Given the description of an element on the screen output the (x, y) to click on. 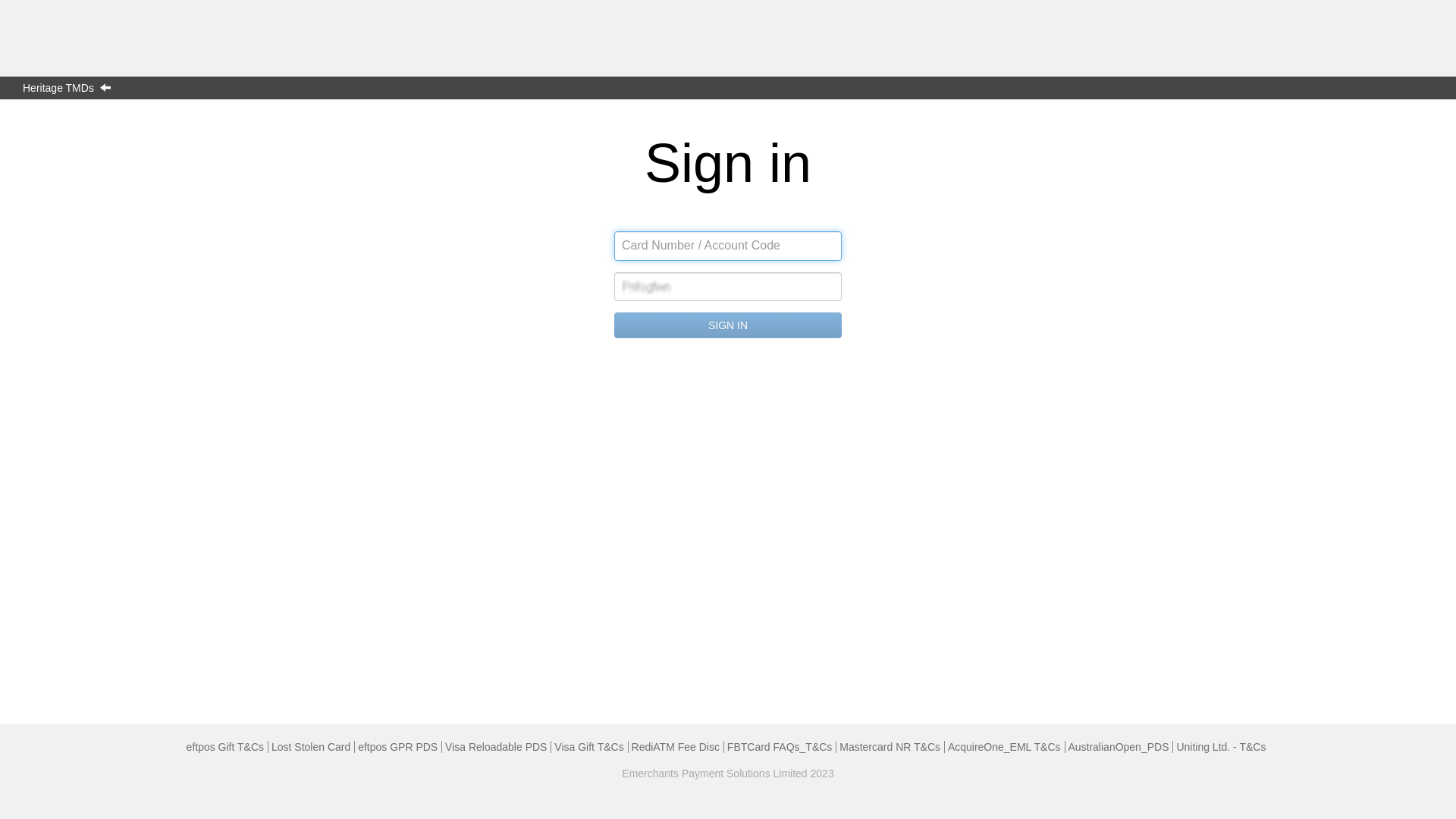
Uniting Ltd. - T&Cs Element type: text (1220, 746)
Lost Stolen Card Element type: text (310, 746)
FBTCard FAQs_T&Cs Element type: text (779, 746)
RediATM Fee Disc Element type: text (675, 746)
Heritage TMDs   Element type: text (70, 87)
AcquireOne_EML T&Cs Element type: text (1003, 746)
SIGN IN Element type: text (727, 325)
AustralianOpen_PDS Element type: text (1117, 746)
Visa Reloadable PDS Element type: text (495, 746)
eftpos Gift T&Cs Element type: text (224, 746)
eftpos GPR PDS Element type: text (397, 746)
Visa Gift T&Cs Element type: text (588, 746)
Mastercard NR T&Cs Element type: text (889, 746)
